Given the description of an element on the screen output the (x, y) to click on. 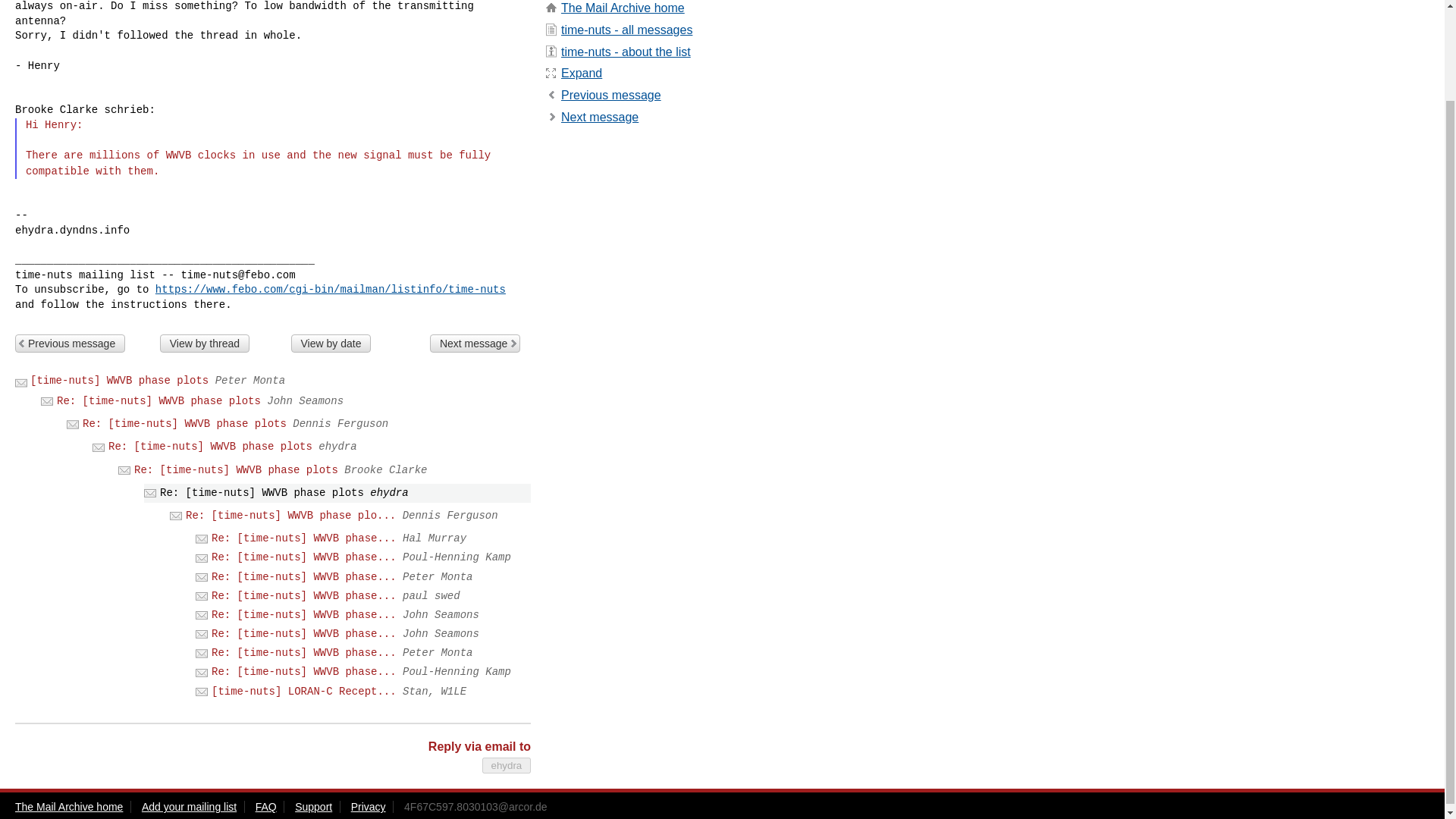
View by thread (204, 343)
The Mail Archive home (622, 7)
FAQ (266, 806)
Previous message (610, 94)
time-nuts - about the list (625, 51)
Privacy (367, 806)
e (581, 72)
Previous message (69, 343)
 ehydra  (506, 765)
n (599, 116)
